Given the description of an element on the screen output the (x, y) to click on. 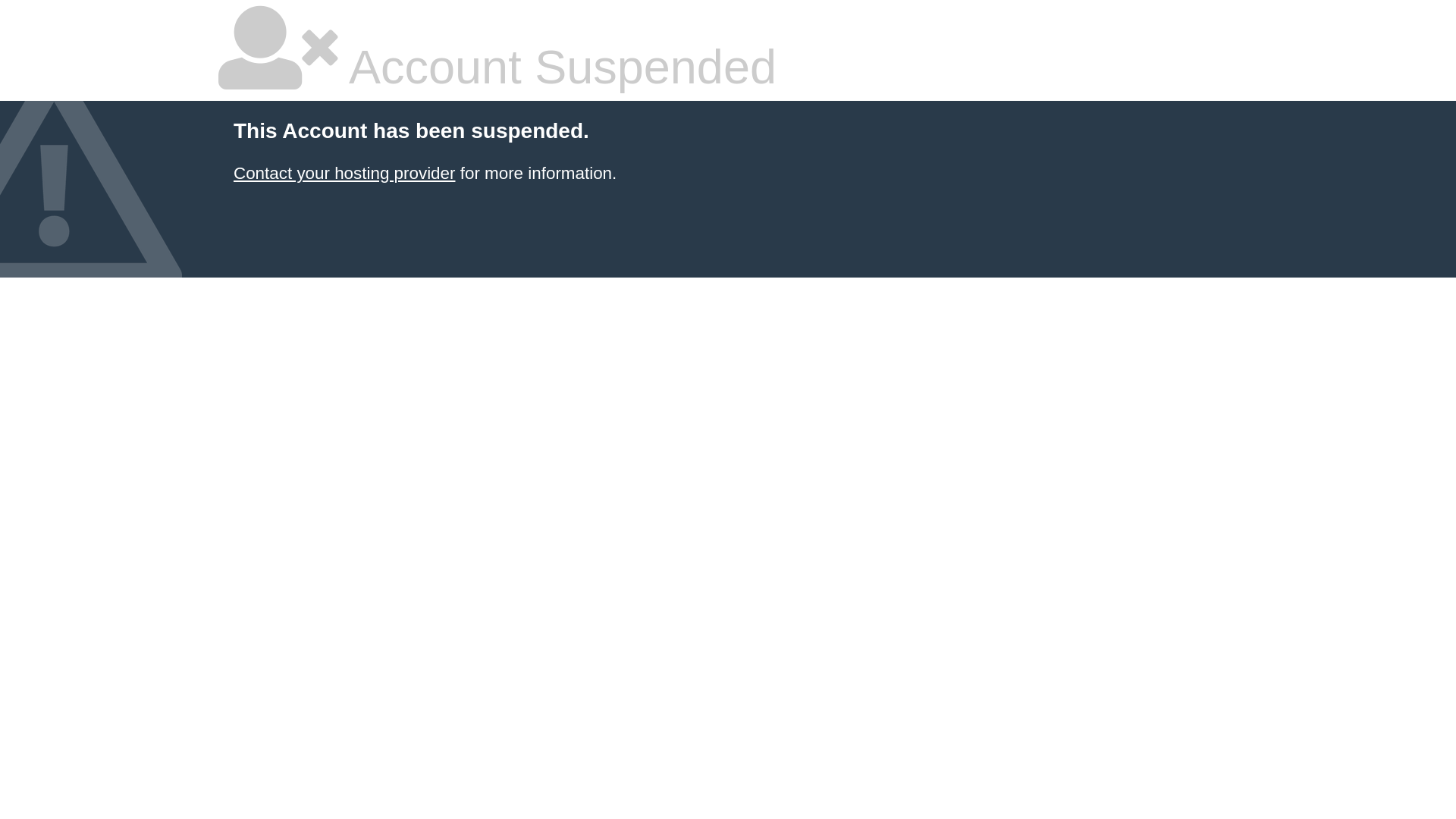
Contact your hosting provider Element type: text (344, 172)
